Given the description of an element on the screen output the (x, y) to click on. 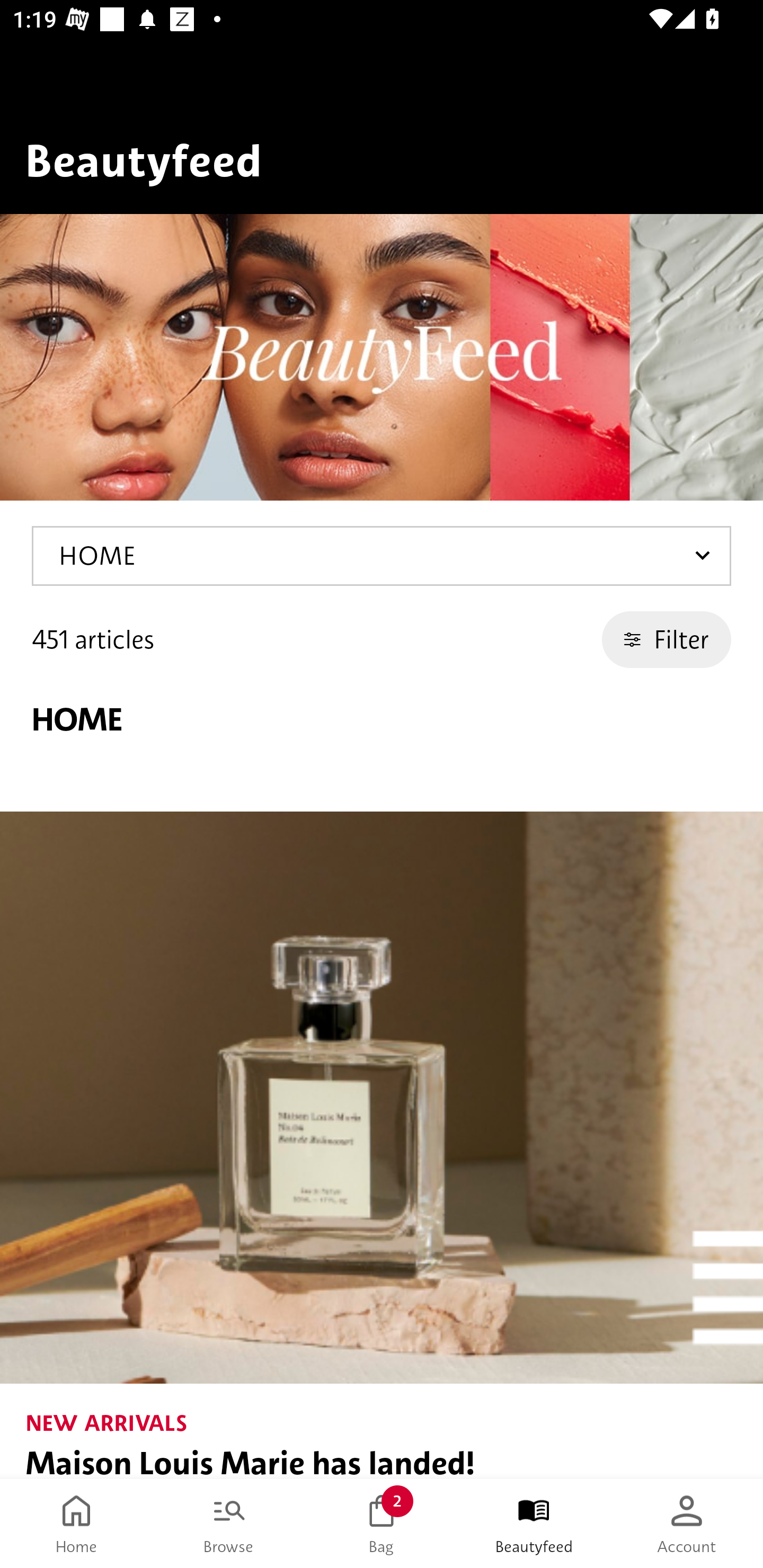
HOME (381, 555)
Filter (666, 639)
NEW ARRIVALS Maison Louis Marie has landed! (381, 1145)
Home (76, 1523)
Browse (228, 1523)
Bag 2 Bag (381, 1523)
Account (686, 1523)
